Given the description of an element on the screen output the (x, y) to click on. 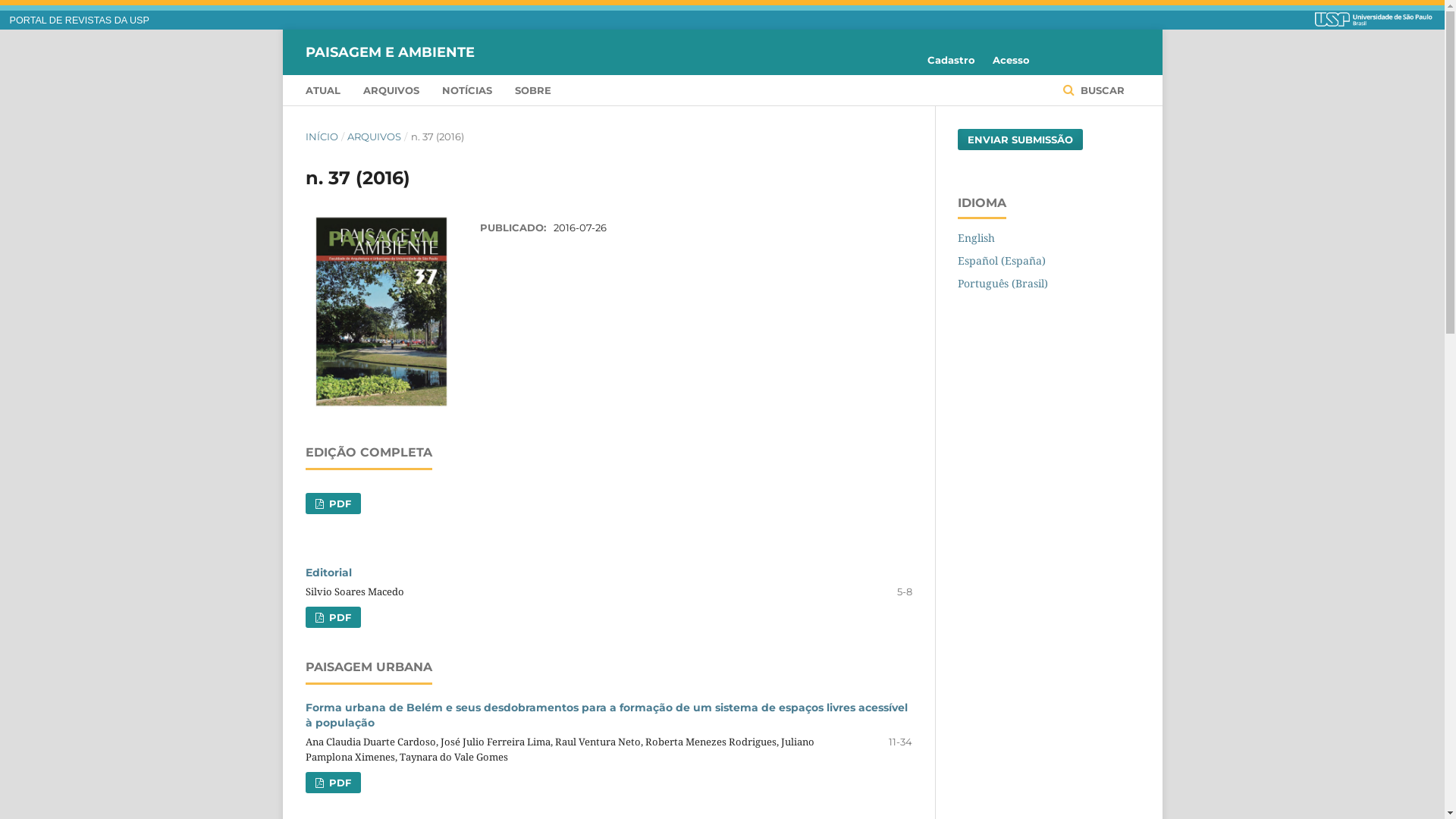
PAISAGEM E AMBIENTE Element type: text (388, 52)
ATUAL Element type: text (321, 89)
PDF Element type: text (332, 503)
PDF Element type: text (332, 616)
ARQUIVOS Element type: text (374, 136)
SOBRE Element type: text (532, 89)
PORTAL DE REVISTAS DA USP Element type: text (79, 20)
ARQUIVOS Element type: text (390, 89)
Cadastro Element type: text (950, 59)
Acesso Element type: text (1006, 59)
English Element type: text (975, 237)
Editorial Element type: text (327, 572)
BUSCAR Element type: text (1093, 89)
PDF Element type: text (332, 782)
